Given the description of an element on the screen output the (x, y) to click on. 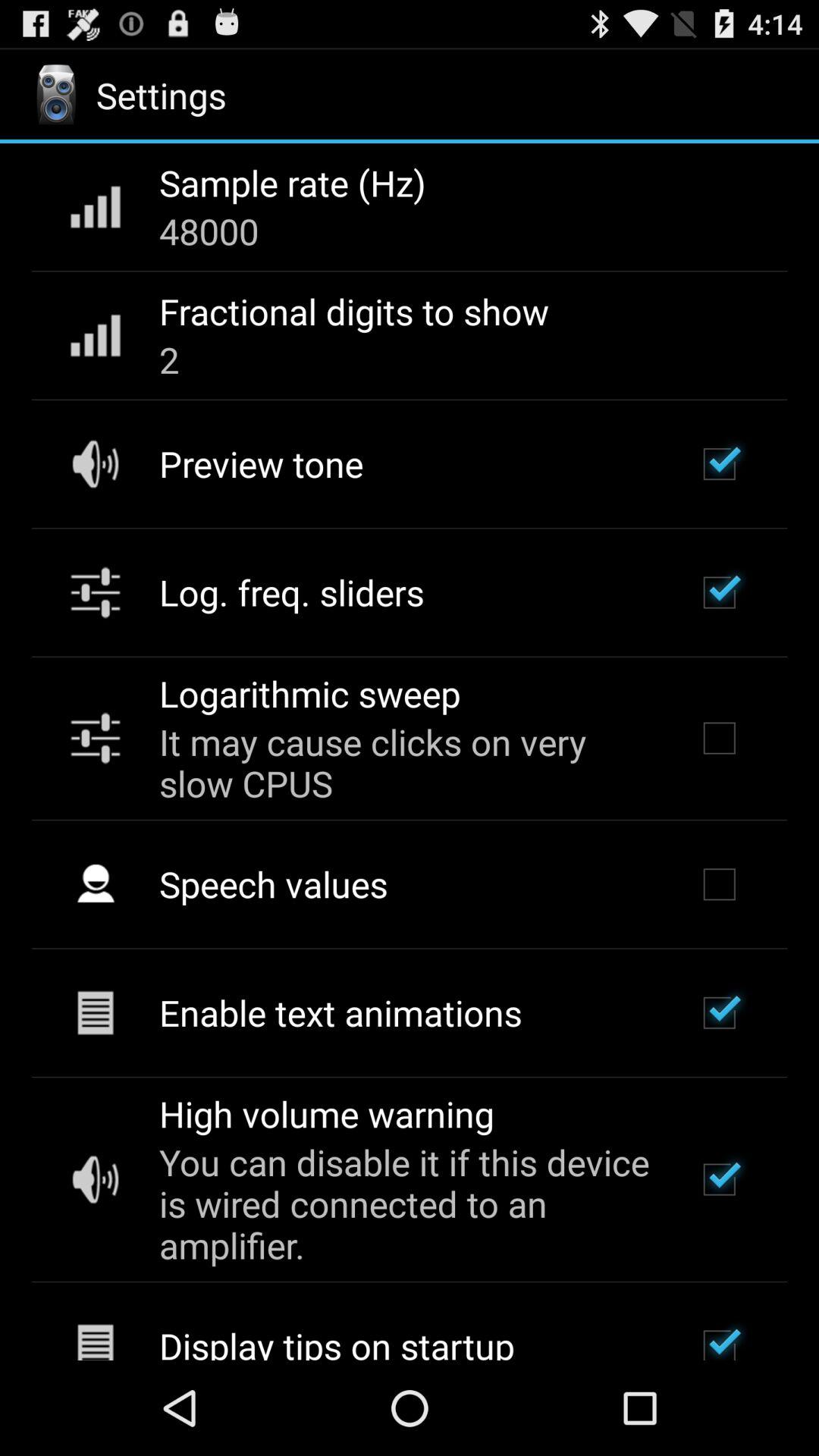
open app below sample rate (hz) app (208, 231)
